Given the description of an element on the screen output the (x, y) to click on. 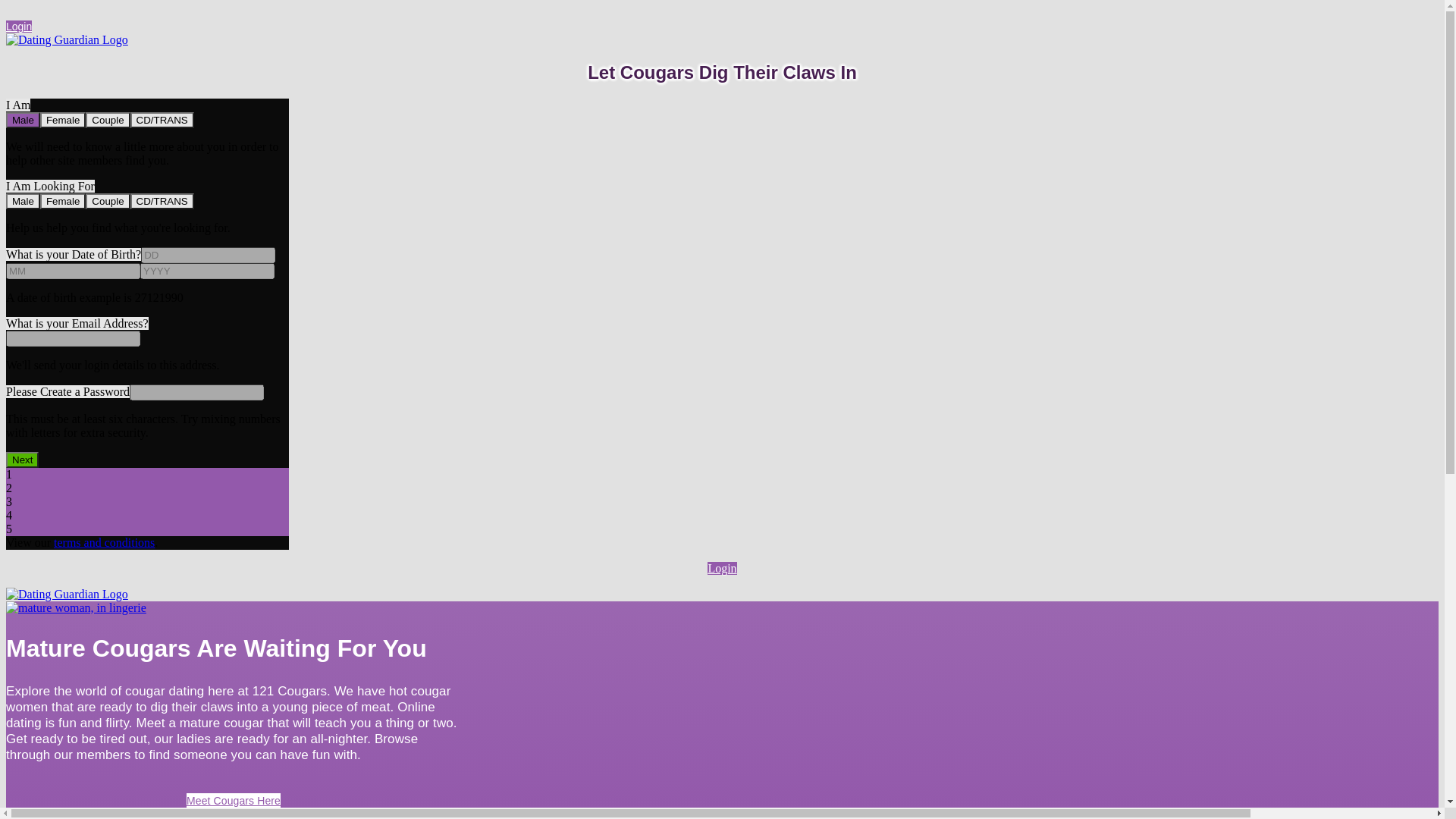
terms and conditions Element type: text (103, 542)
Female Element type: text (62, 120)
CD/TRANS Element type: text (162, 201)
CD/TRANS Element type: text (162, 120)
Meet Cougars Here Element type: text (233, 801)
Couple Element type: text (107, 201)
Female Element type: text (62, 201)
Couple Element type: text (107, 120)
Male Element type: text (23, 120)
Male Element type: text (23, 201)
Login Element type: text (721, 567)
Login Element type: text (18, 26)
